Given the description of an element on the screen output the (x, y) to click on. 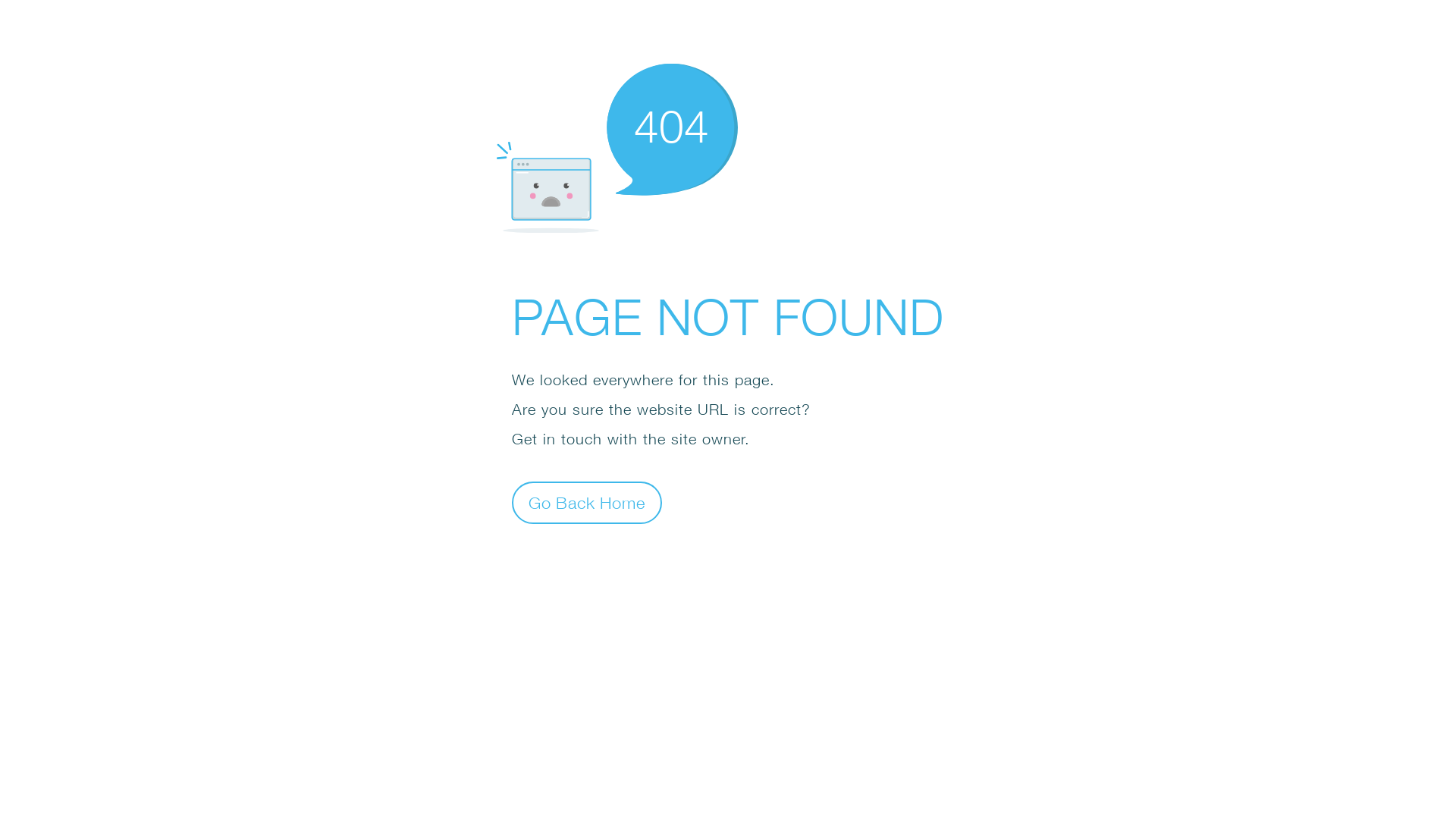
Go Back Home Element type: text (586, 502)
